Given the description of an element on the screen output the (x, y) to click on. 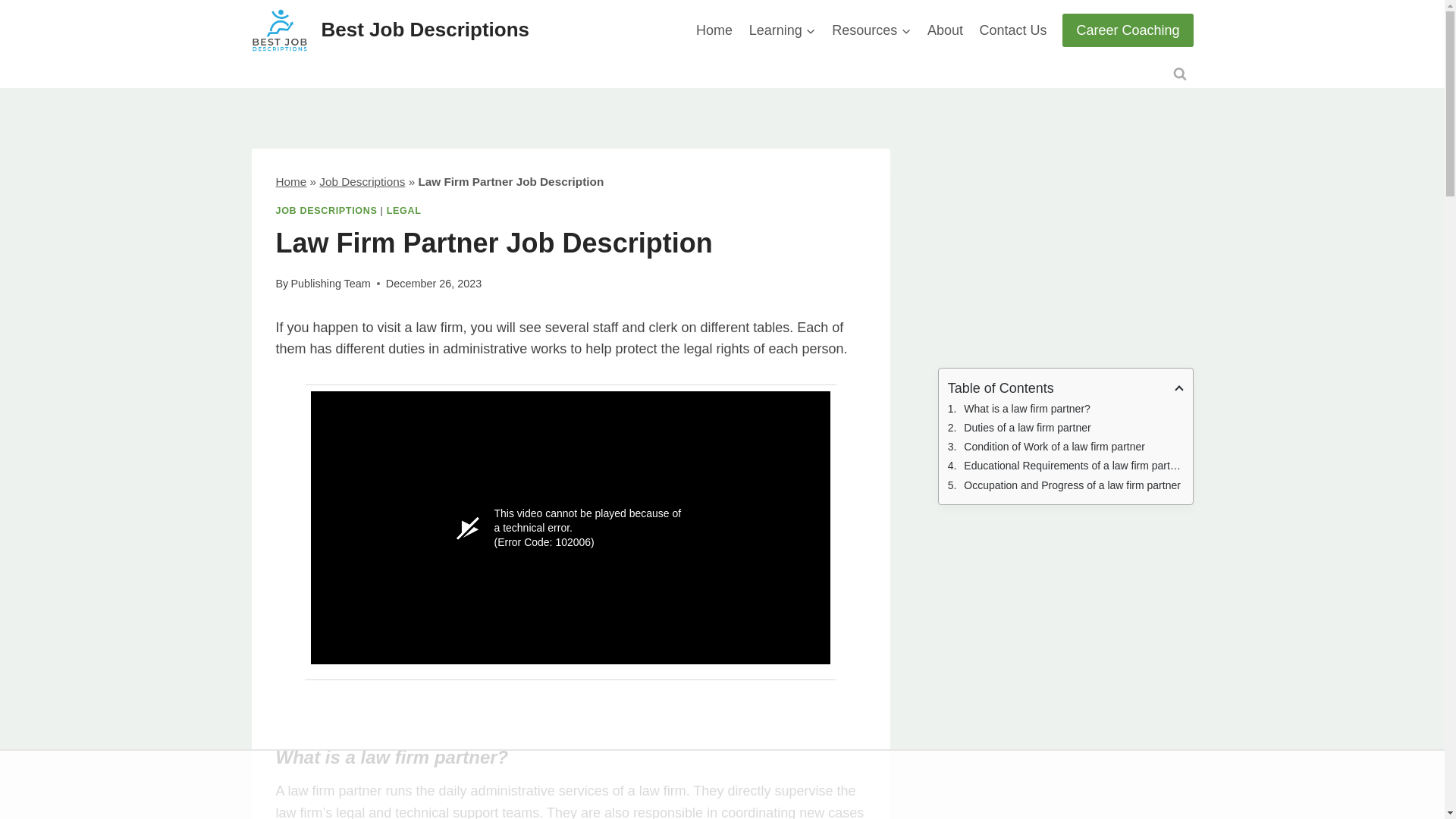
JOB DESCRIPTIONS (326, 210)
Home (714, 30)
Publishing Team (329, 283)
Home (291, 181)
LEGAL (404, 210)
Contact Us (1013, 30)
Resources (871, 30)
Learning (782, 30)
About (944, 30)
Best Job Descriptions (390, 30)
Job Descriptions (361, 181)
Career Coaching (1127, 29)
